Given the description of an element on the screen output the (x, y) to click on. 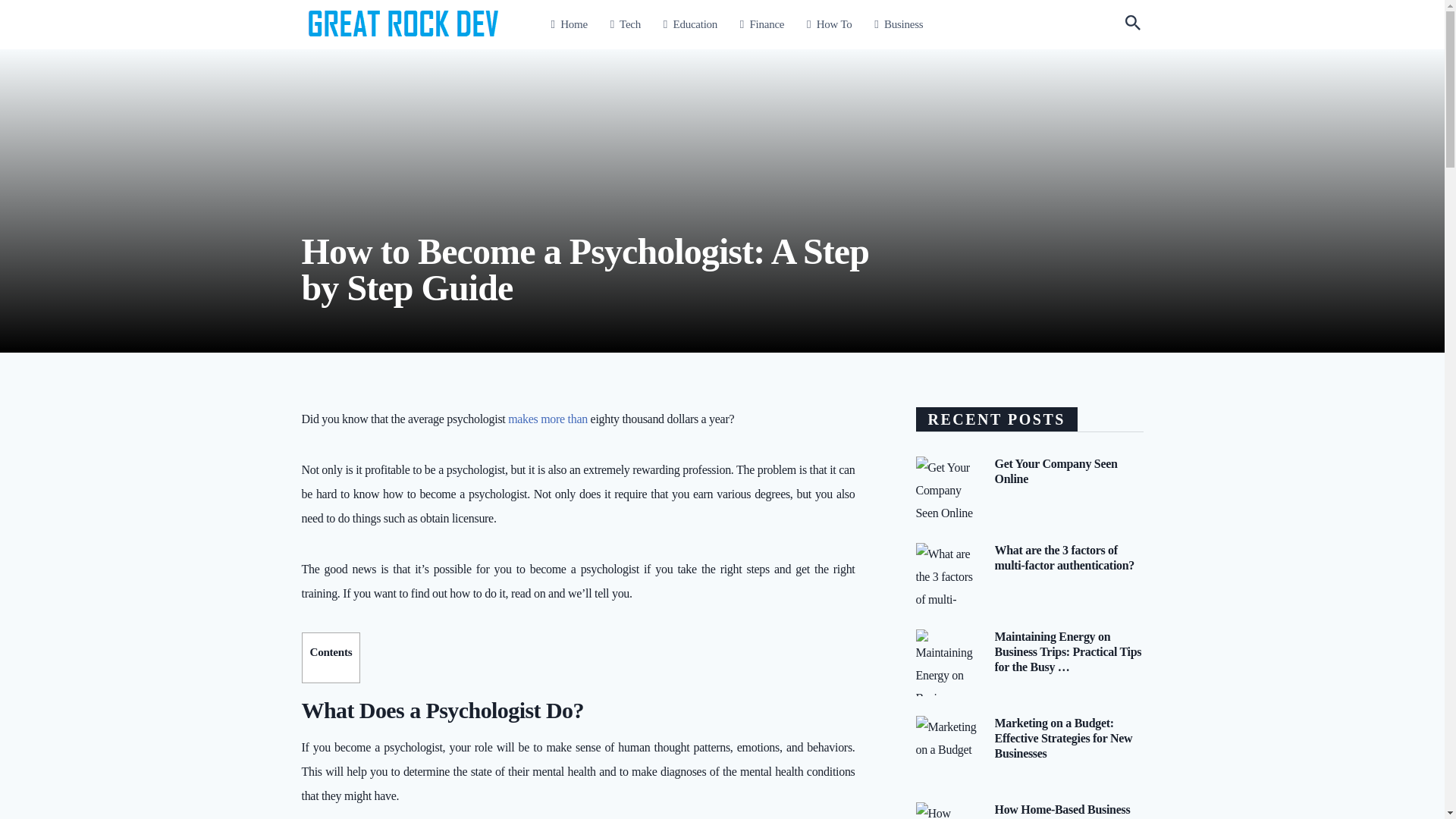
What are the 3 factors of multi-factor authentication? (1064, 556)
Get Your Company Seen Online (1056, 470)
makes more than (548, 418)
How To (828, 24)
Education (690, 24)
Business (899, 24)
Get Your Company Seen Online (1056, 470)
Finance (761, 24)
What are the 3 factors of multi-factor authentication? (1064, 556)
